Given the description of an element on the screen output the (x, y) to click on. 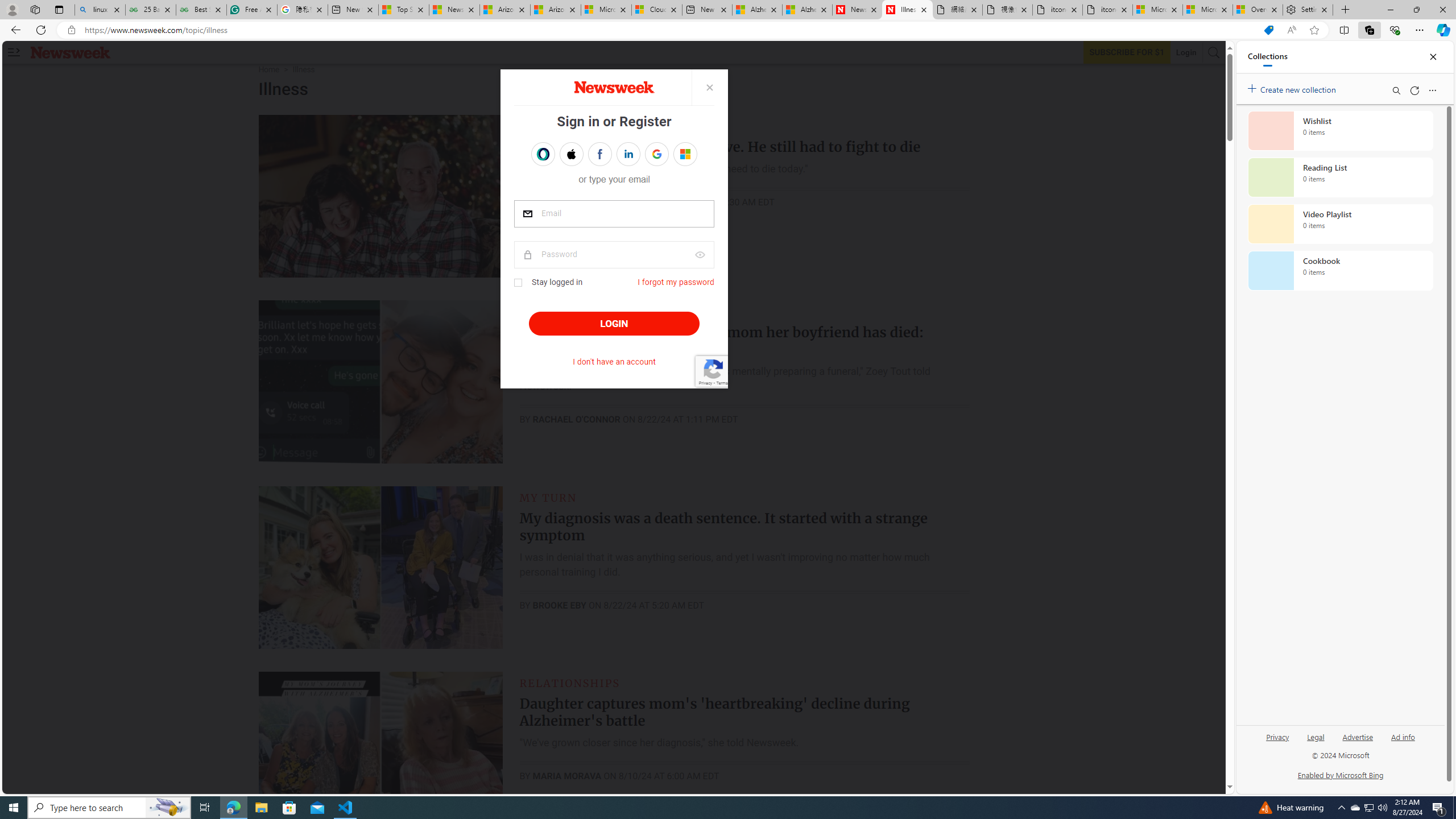
RELATIONSHIPS (569, 682)
Create new collection (1293, 87)
Illness news & latest pictures from Newsweek.com (907, 9)
Wishlist collection, 0 items (1339, 130)
password (613, 254)
LOGIN (613, 323)
